Given the description of an element on the screen output the (x, y) to click on. 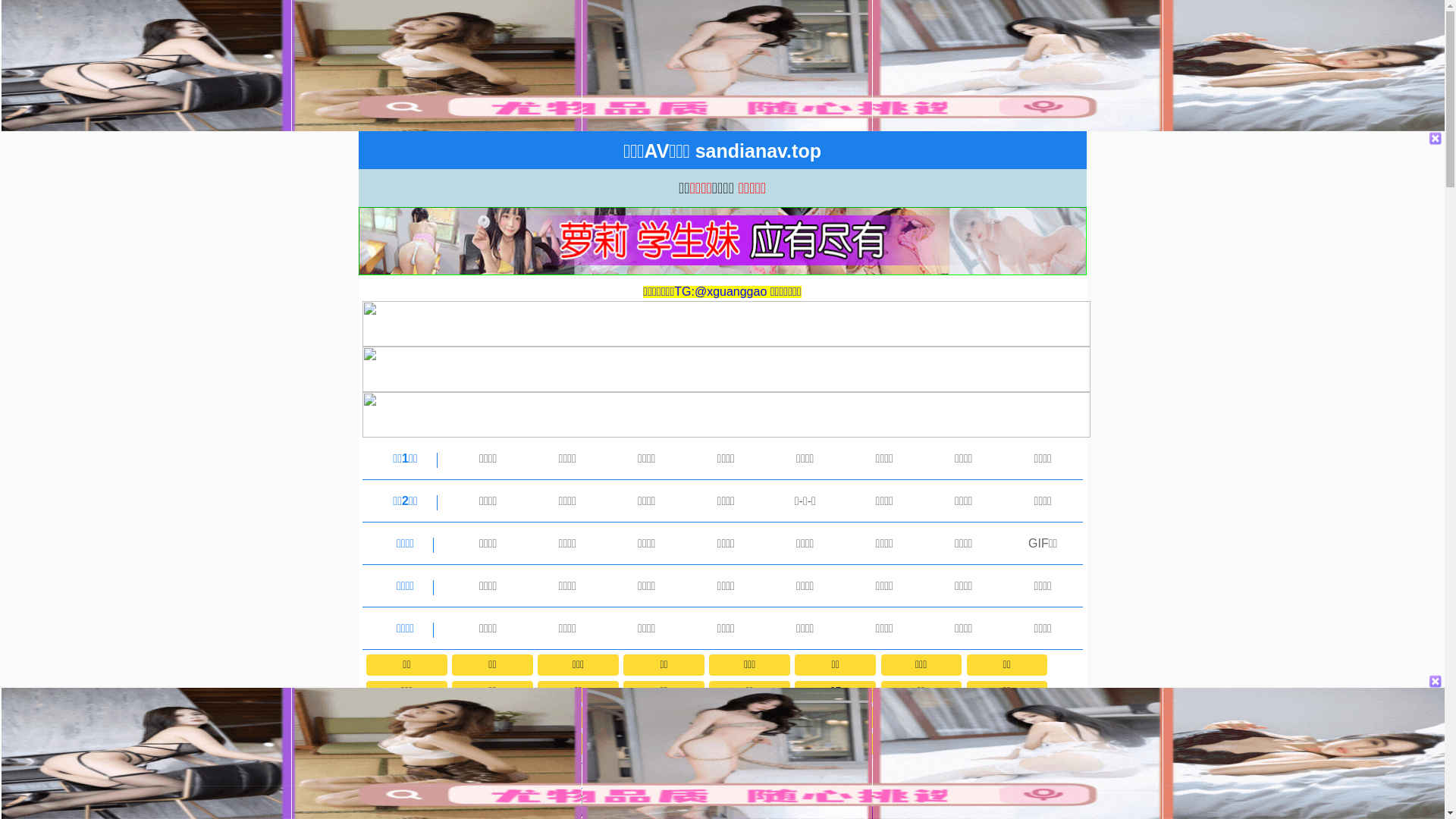
97 Element type: text (834, 691)
